Given the description of an element on the screen output the (x, y) to click on. 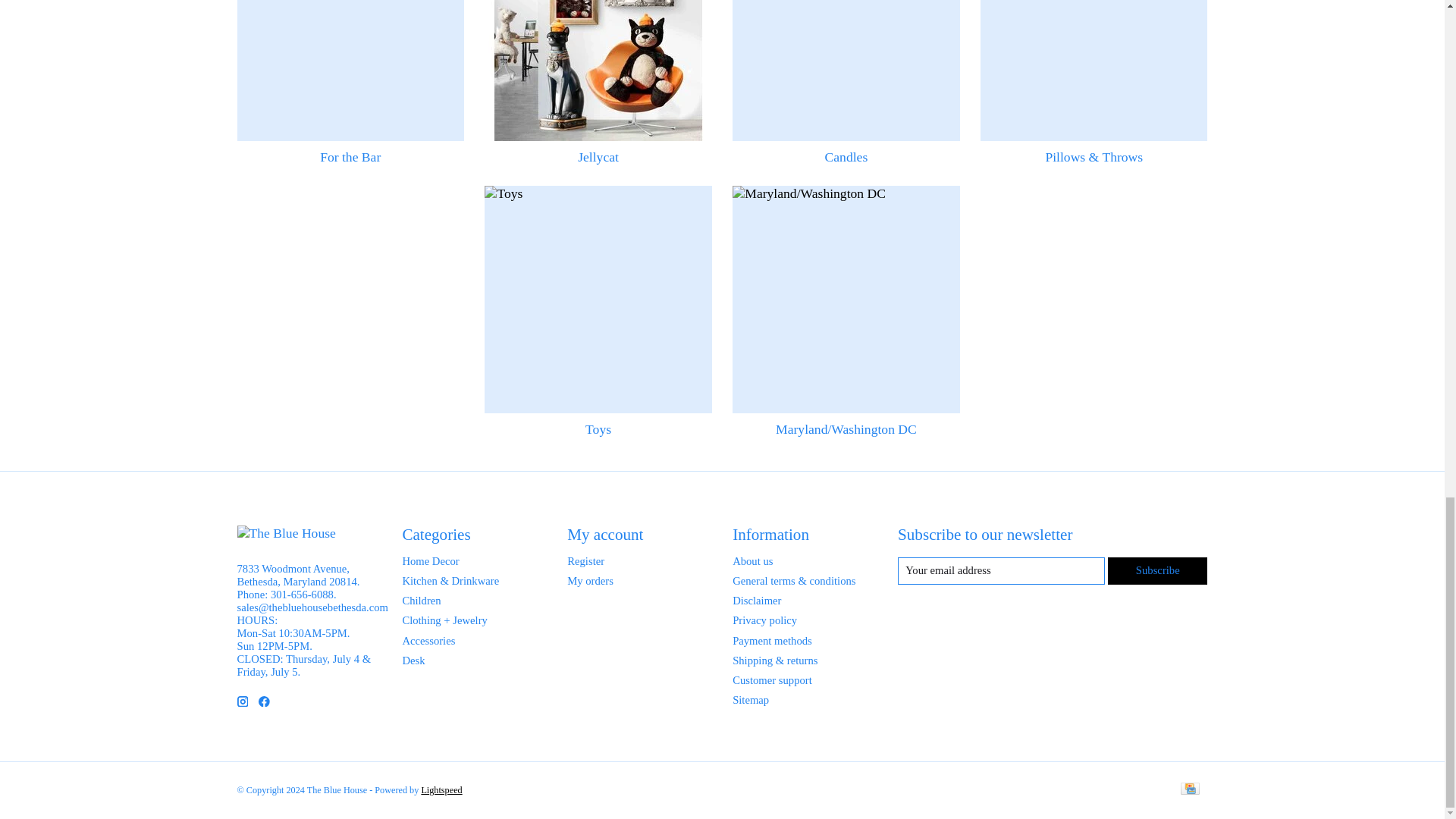
Toys (597, 298)
Privacy policy (764, 620)
Jellycat (597, 70)
Register (585, 561)
About us (752, 561)
For the Bar (350, 70)
Payment methods (772, 640)
Disclaimer (756, 600)
Candles (845, 70)
My orders (589, 580)
